Given the description of an element on the screen output the (x, y) to click on. 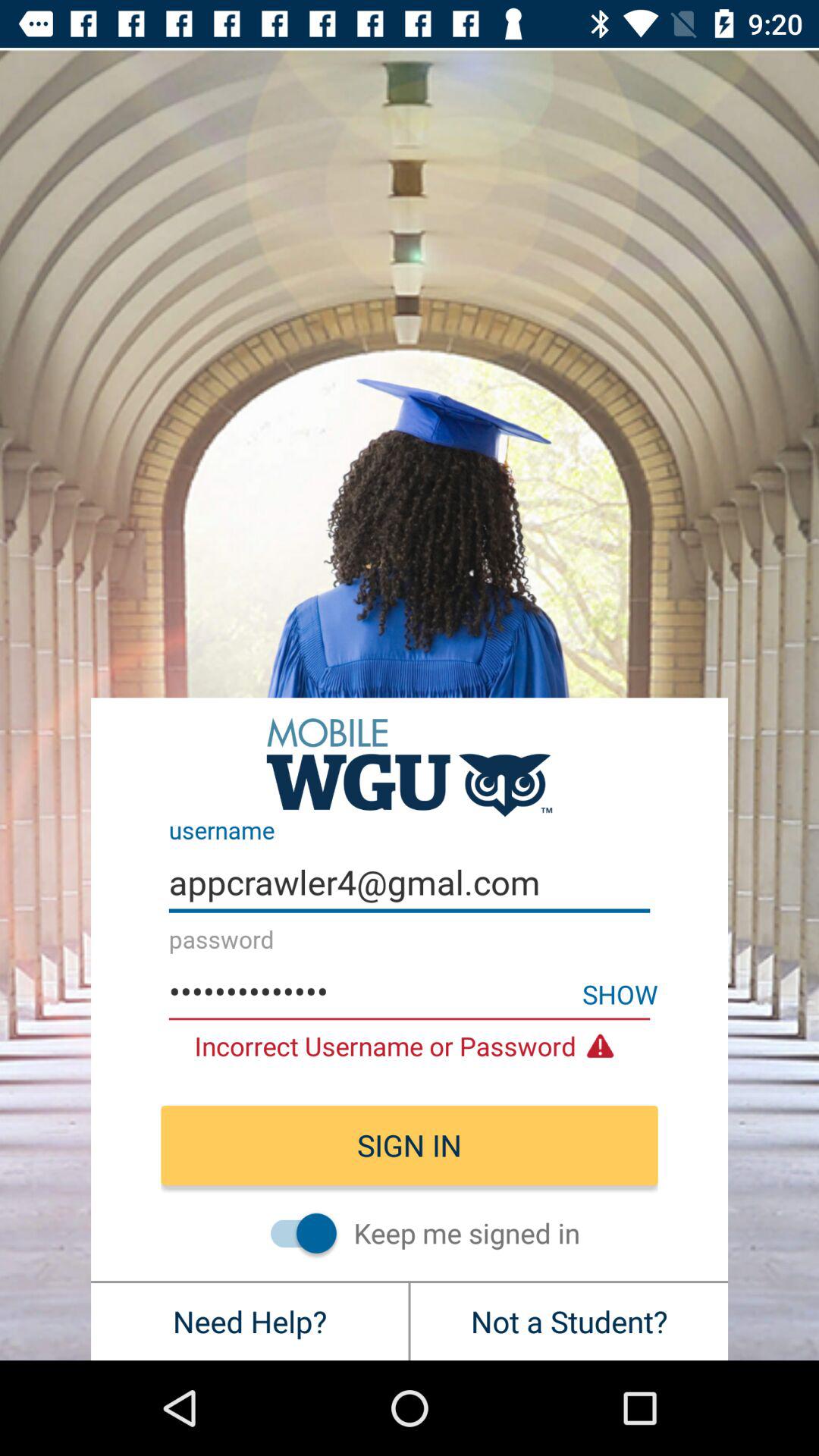
launch item below sign in icon (295, 1232)
